Given the description of an element on the screen output the (x, y) to click on. 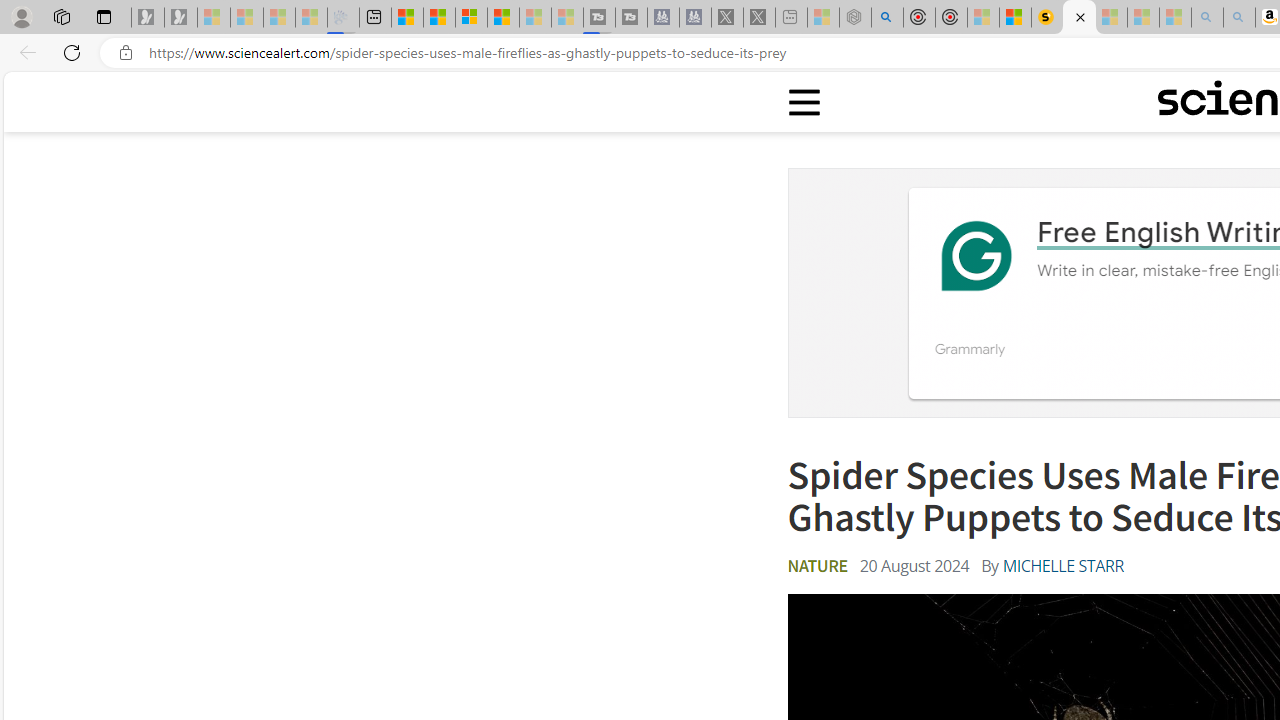
Main menu (805, 102)
MICHELLE STARR (1062, 565)
